Given the description of an element on the screen output the (x, y) to click on. 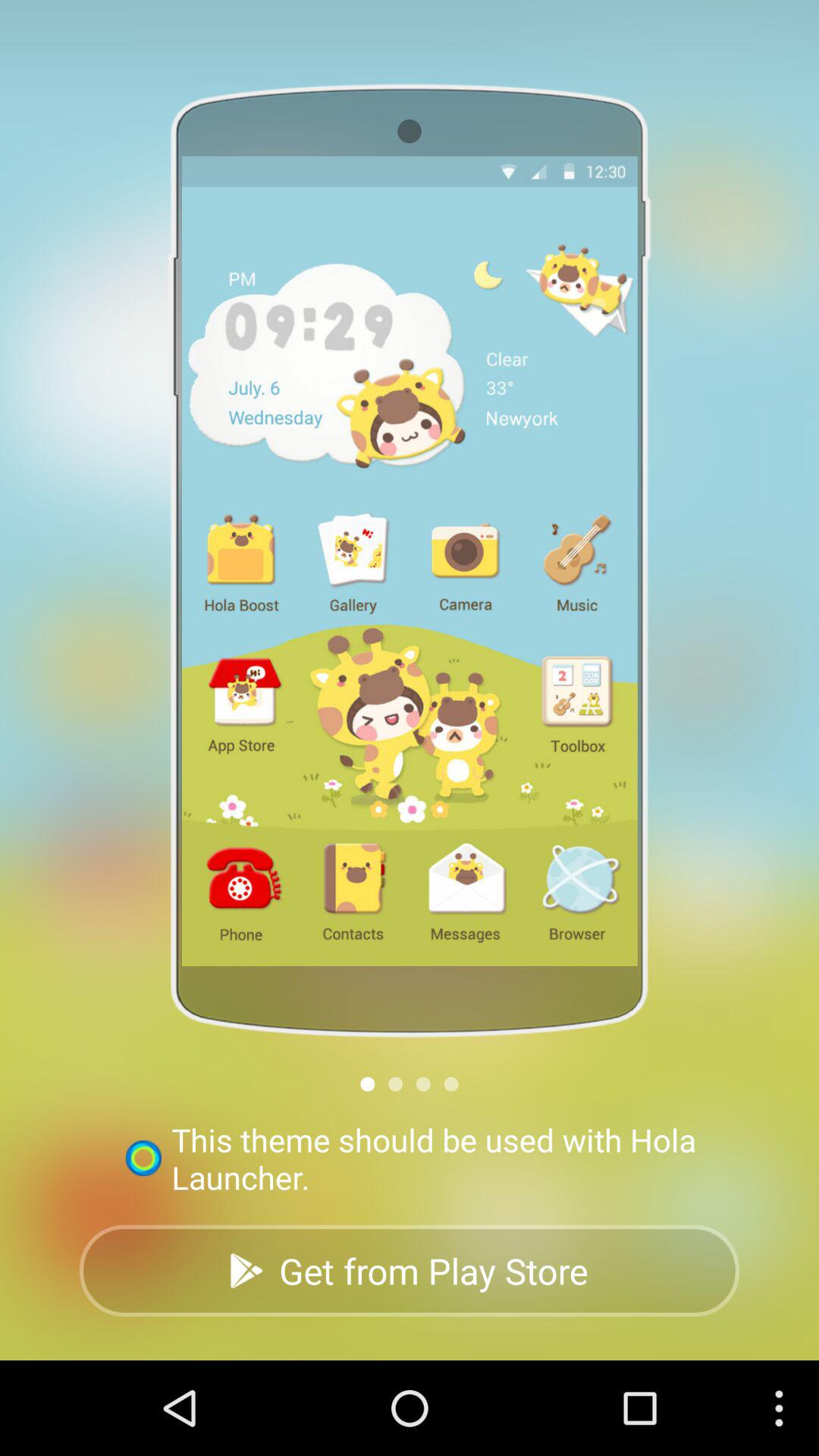
information of layout at hte first screen (367, 1084)
